Given the description of an element on the screen output the (x, y) to click on. 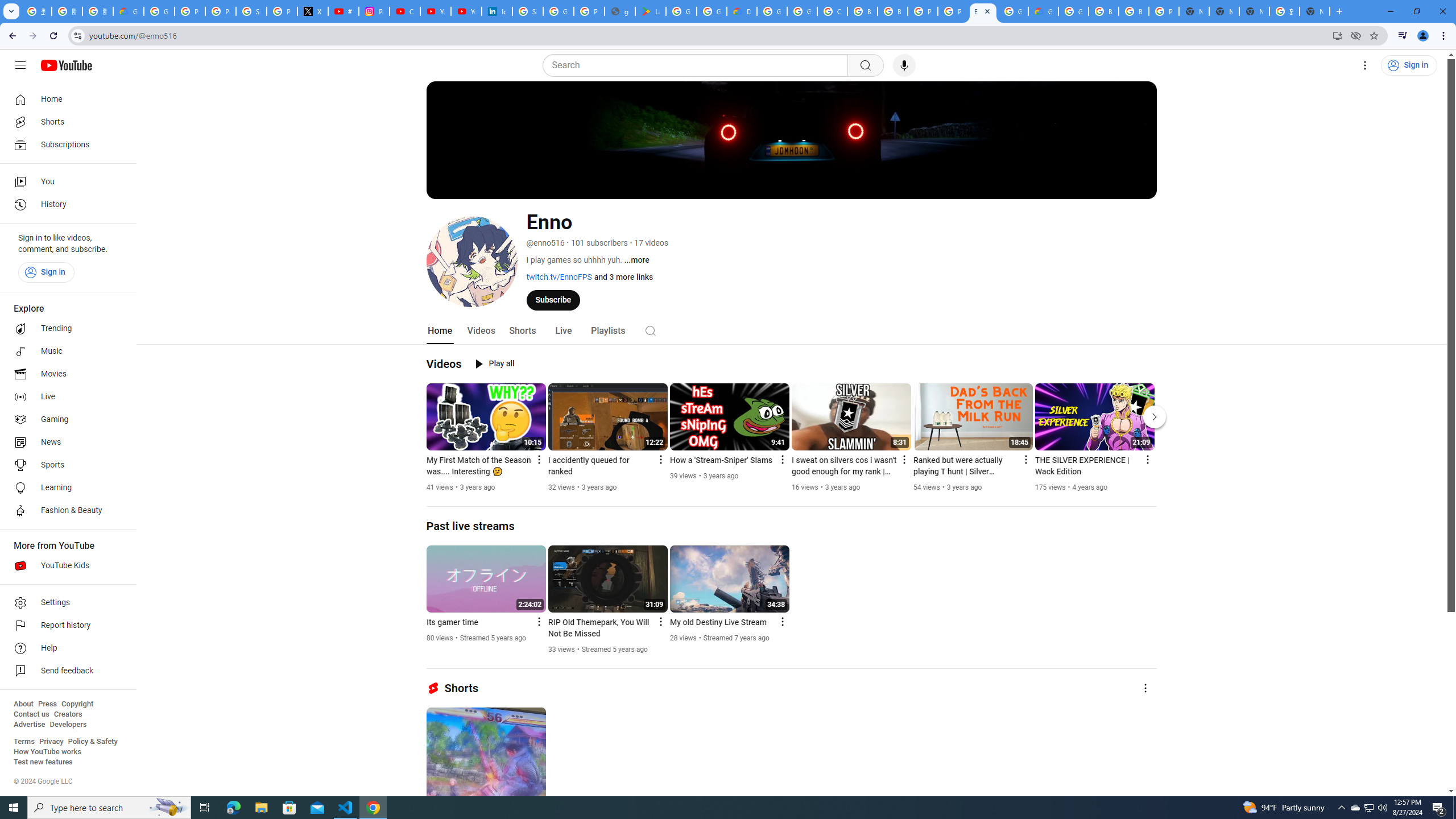
Contact us (31, 714)
Sign in - Google Accounts (527, 11)
Press (46, 703)
Guide (20, 65)
Advertise (29, 724)
Videos (443, 363)
How YouTube works (47, 751)
Copyright (77, 703)
and 3 more links (623, 276)
Home (440, 330)
Enno - YouTube (982, 11)
News (64, 441)
